Given the description of an element on the screen output the (x, y) to click on. 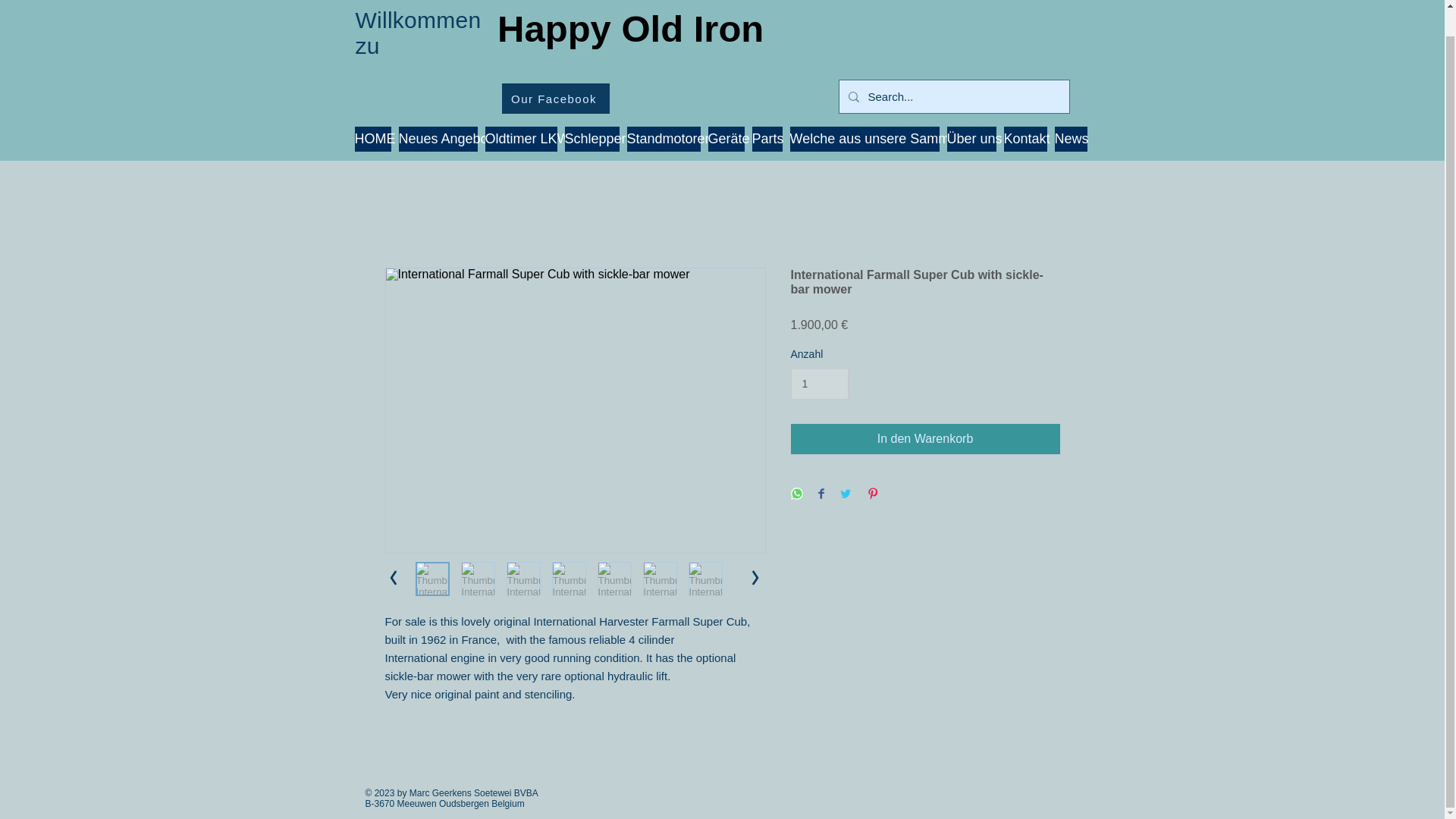
HOME (373, 138)
Parts (767, 138)
News (1070, 138)
1 (818, 383)
Welche aus unsere Sammlung (864, 138)
Our Facebook (556, 98)
Standmotoren (663, 138)
Neues Angebot (437, 138)
Kontakt (1025, 138)
Oldtimer LKW (520, 138)
